Given the description of an element on the screen output the (x, y) to click on. 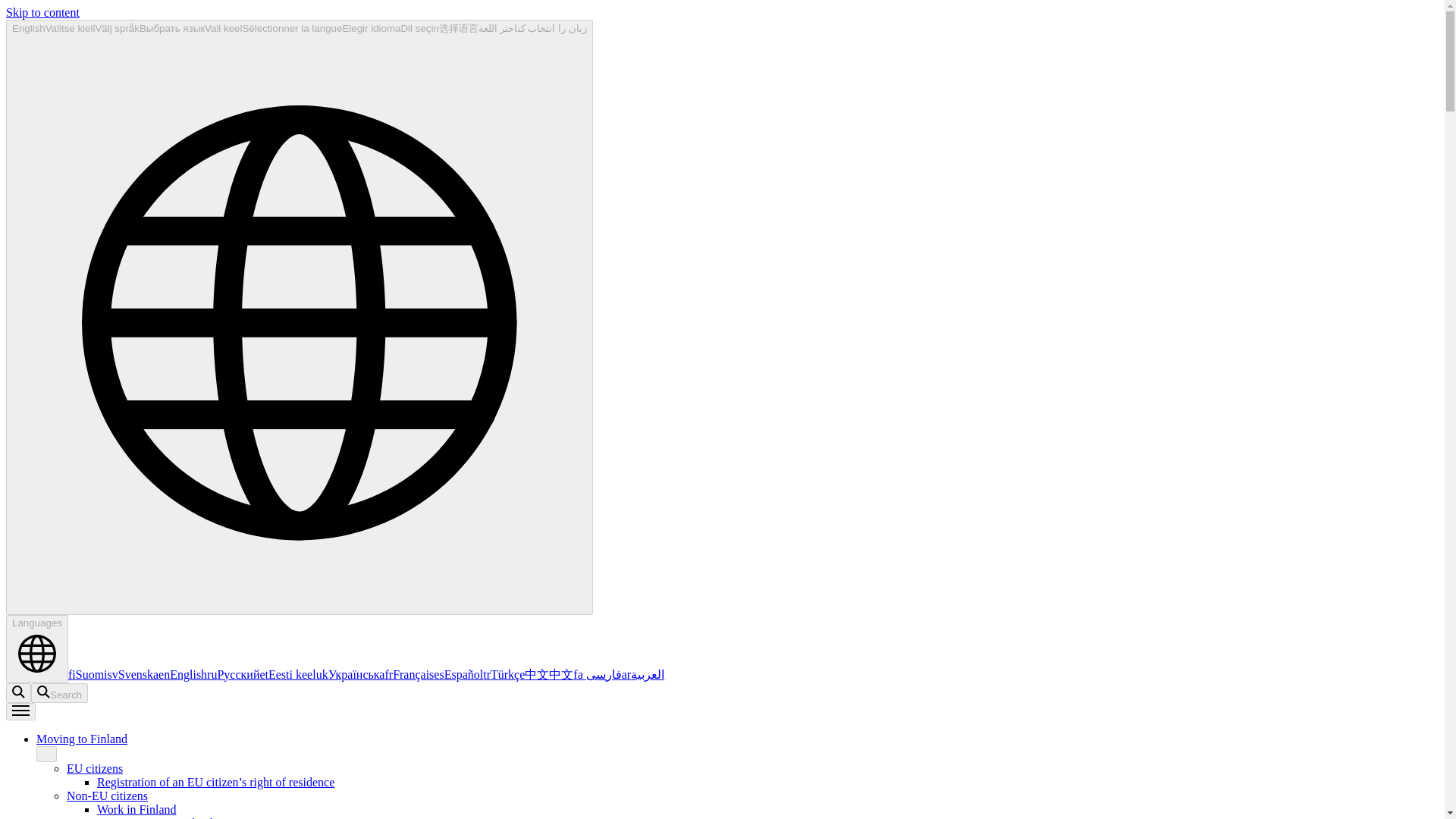
Non-EU citizens (107, 795)
Languages (36, 649)
enEnglish (182, 674)
mainMenu.close (46, 754)
etEesti keel (287, 674)
Search (58, 692)
Moving to Finland (82, 738)
Search (58, 692)
EU citizens (94, 768)
Suomi (87, 674)
fiSuomi (87, 674)
Main menu (19, 711)
Eesti keel (287, 674)
Skip to content (42, 11)
